Given the description of an element on the screen output the (x, y) to click on. 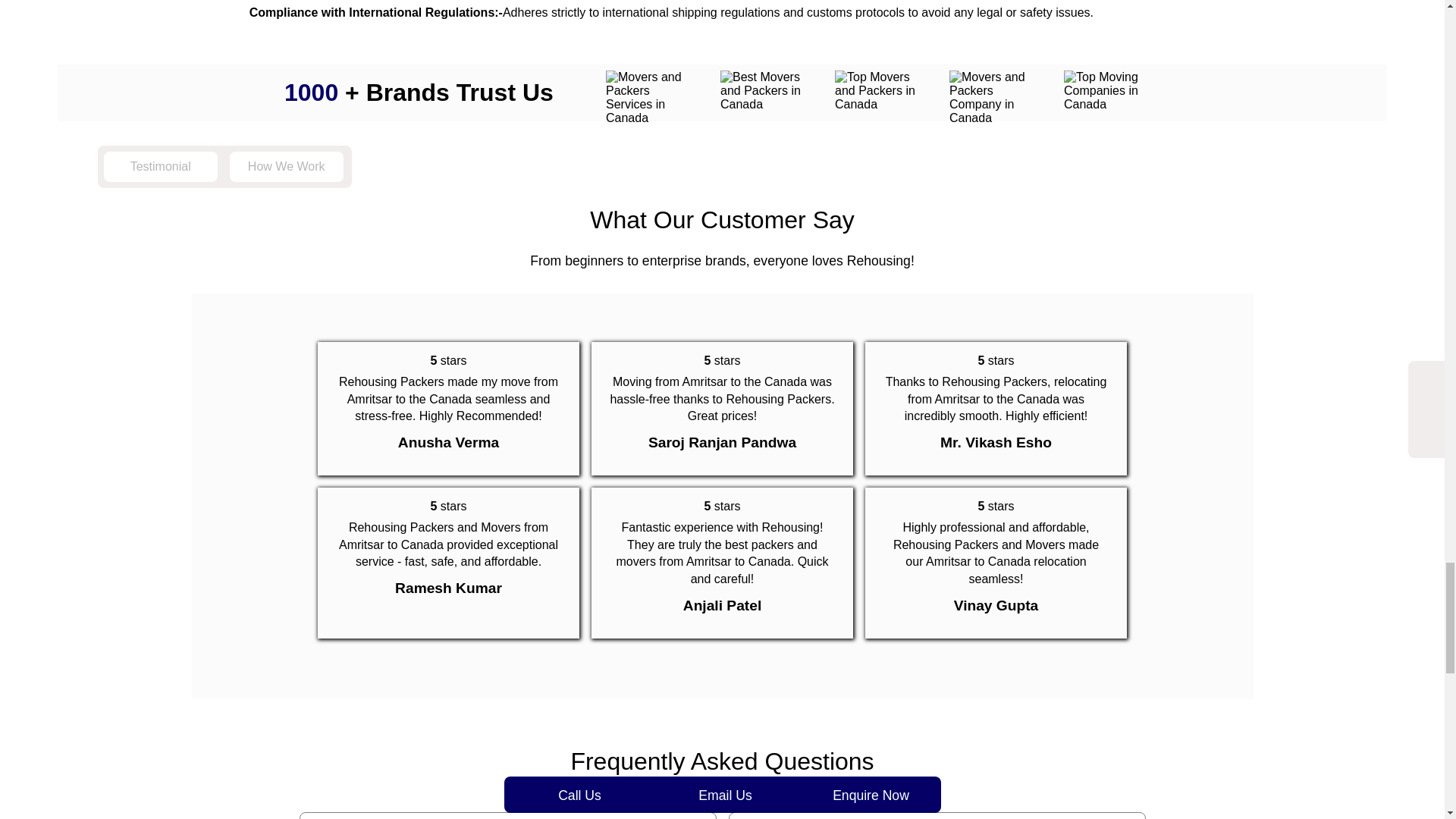
Movers and Packers Services in Canada (650, 97)
Top Movers and Packers in Canada (879, 90)
Movers and Packers Company in Canada (994, 97)
Best Movers and Packers in Canada (765, 90)
Top Moving Companies in Canada (1109, 90)
